Given the description of an element on the screen output the (x, y) to click on. 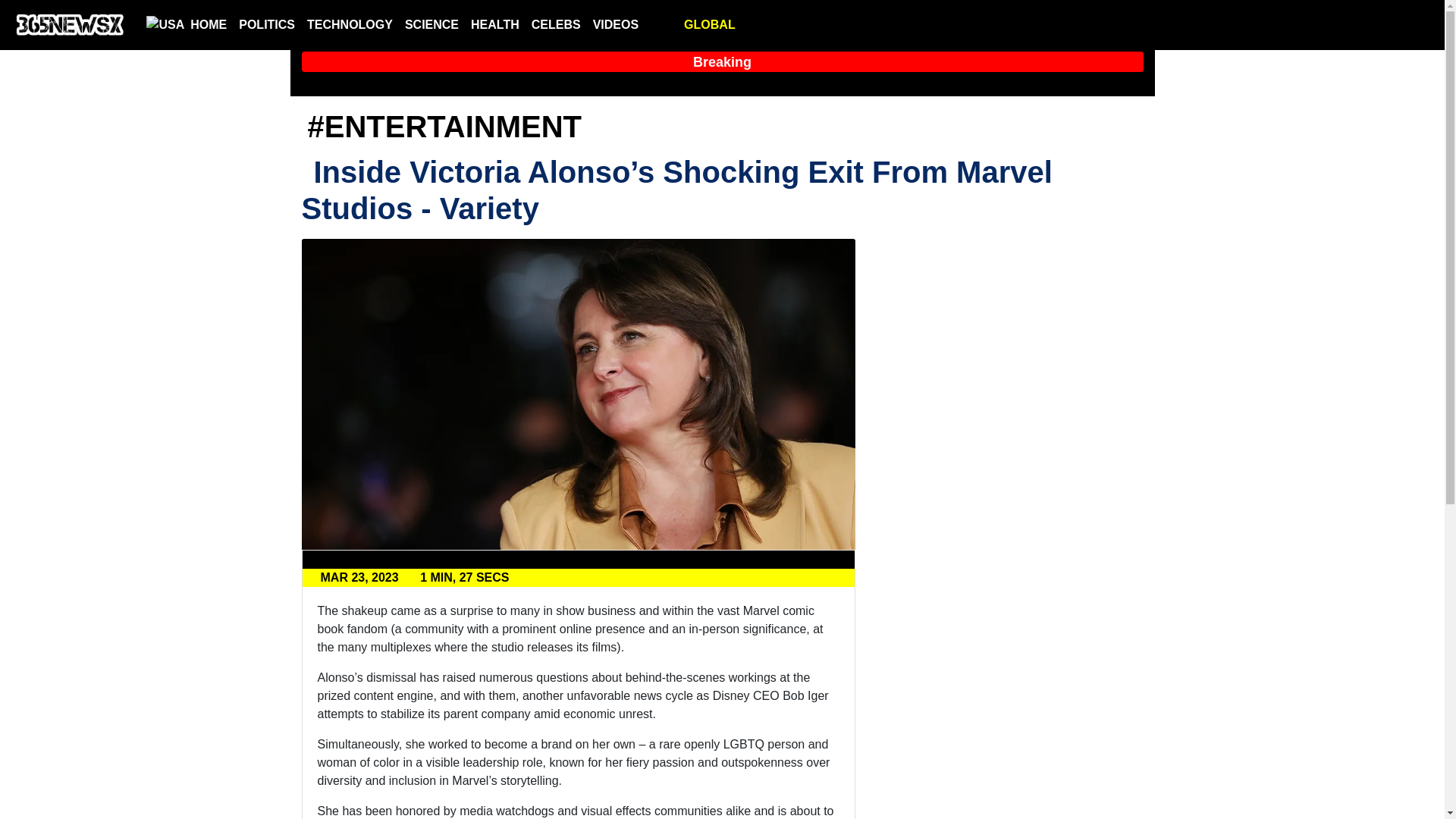
CELEBS Element type: text (555, 24)
POLITICS Element type: text (266, 24)
HEALTH Element type: text (494, 24)
VIDEOS Element type: text (615, 24)
SCIENCE Element type: text (431, 24)
#ENTERTAINMENT Element type: text (444, 126)
HOME
(current) Element type: text (208, 24)
TECHNOLOGY Element type: text (349, 24)
